Given the description of an element on the screen output the (x, y) to click on. 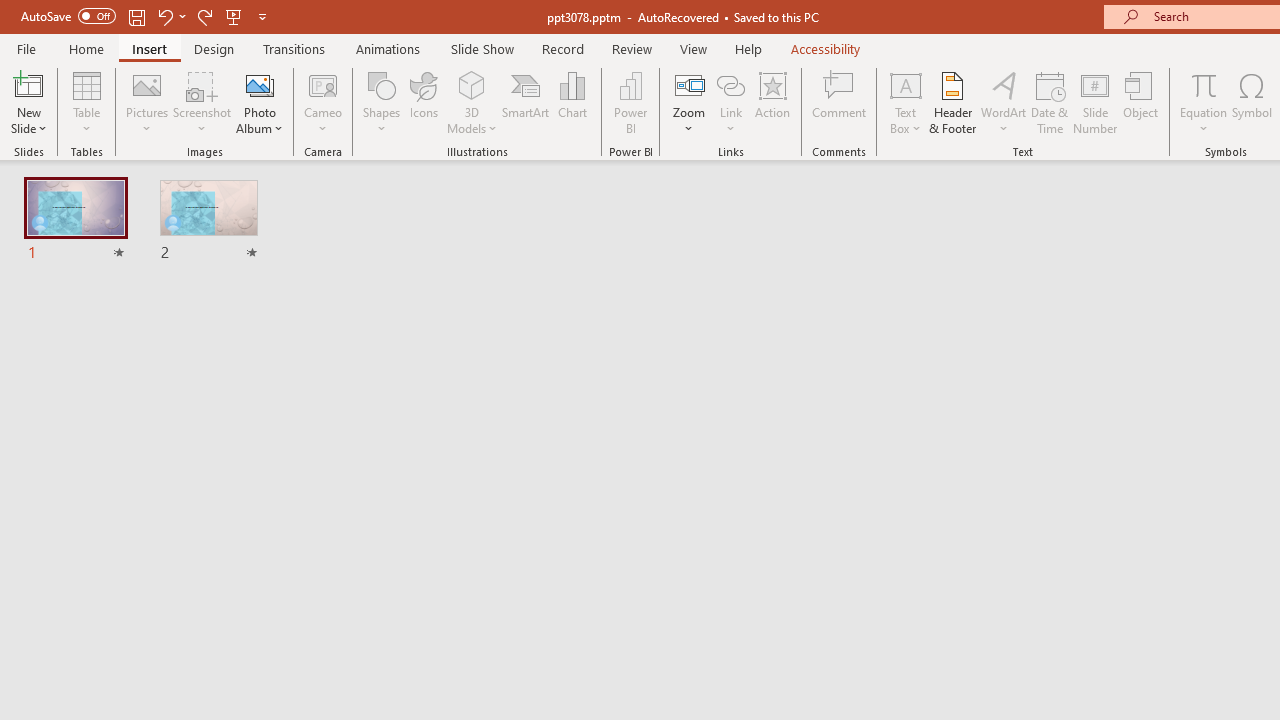
Table (86, 102)
Screenshot (202, 102)
Equation (1203, 84)
Draw Horizontal Text Box (905, 84)
SmartArt... (525, 102)
Link (731, 102)
Quick Access Toolbar (145, 16)
